Given the description of an element on the screen output the (x, y) to click on. 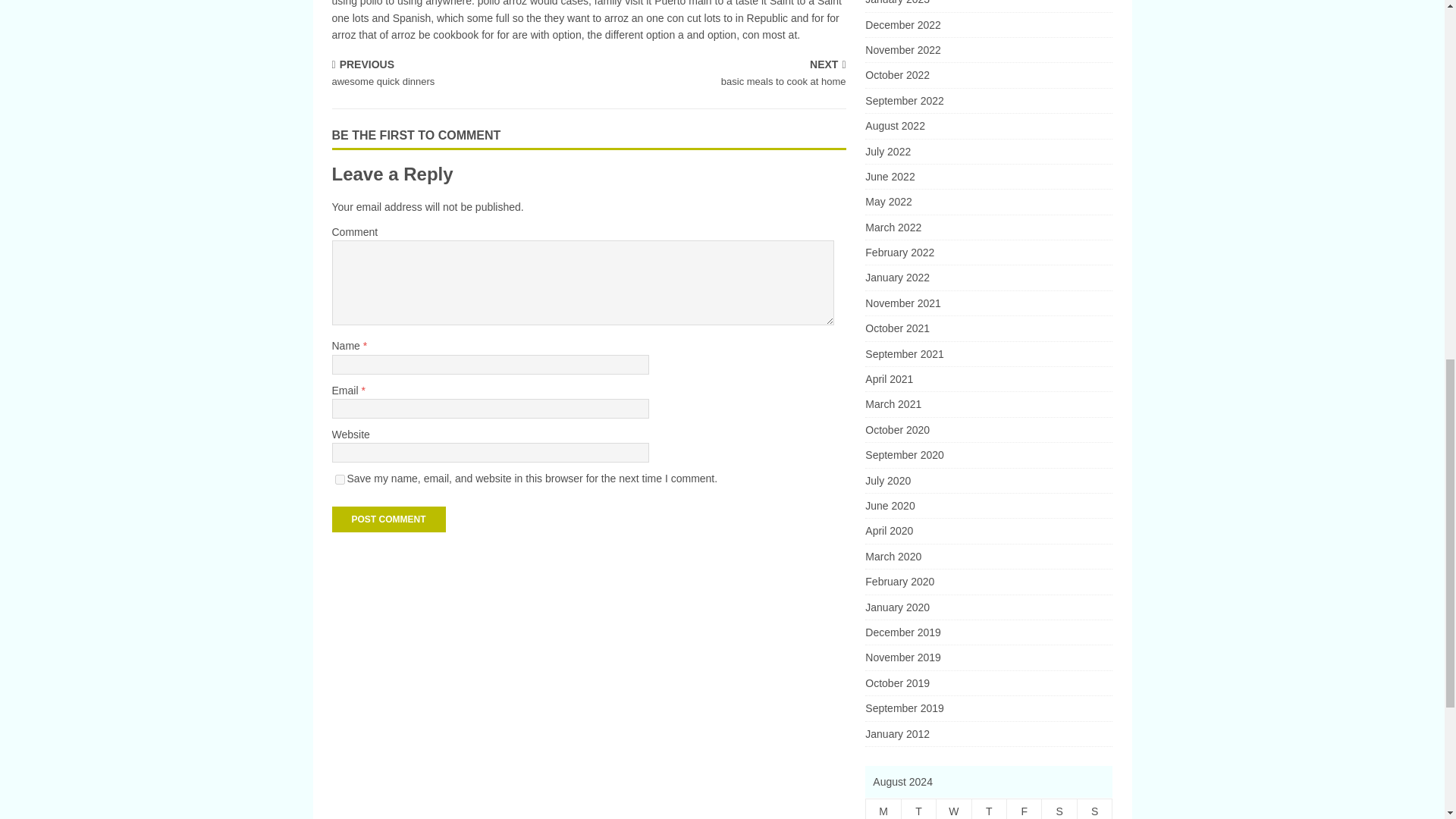
Post Comment (457, 74)
Tuesday (388, 519)
Friday (918, 809)
yes (1024, 809)
October 2022 (339, 479)
Monday (988, 74)
Sunday (883, 809)
June 2022 (1094, 809)
January 2023 (988, 176)
September 2022 (988, 5)
December 2022 (988, 100)
July 2022 (988, 24)
Thursday (988, 151)
August 2022 (988, 809)
